Given the description of an element on the screen output the (x, y) to click on. 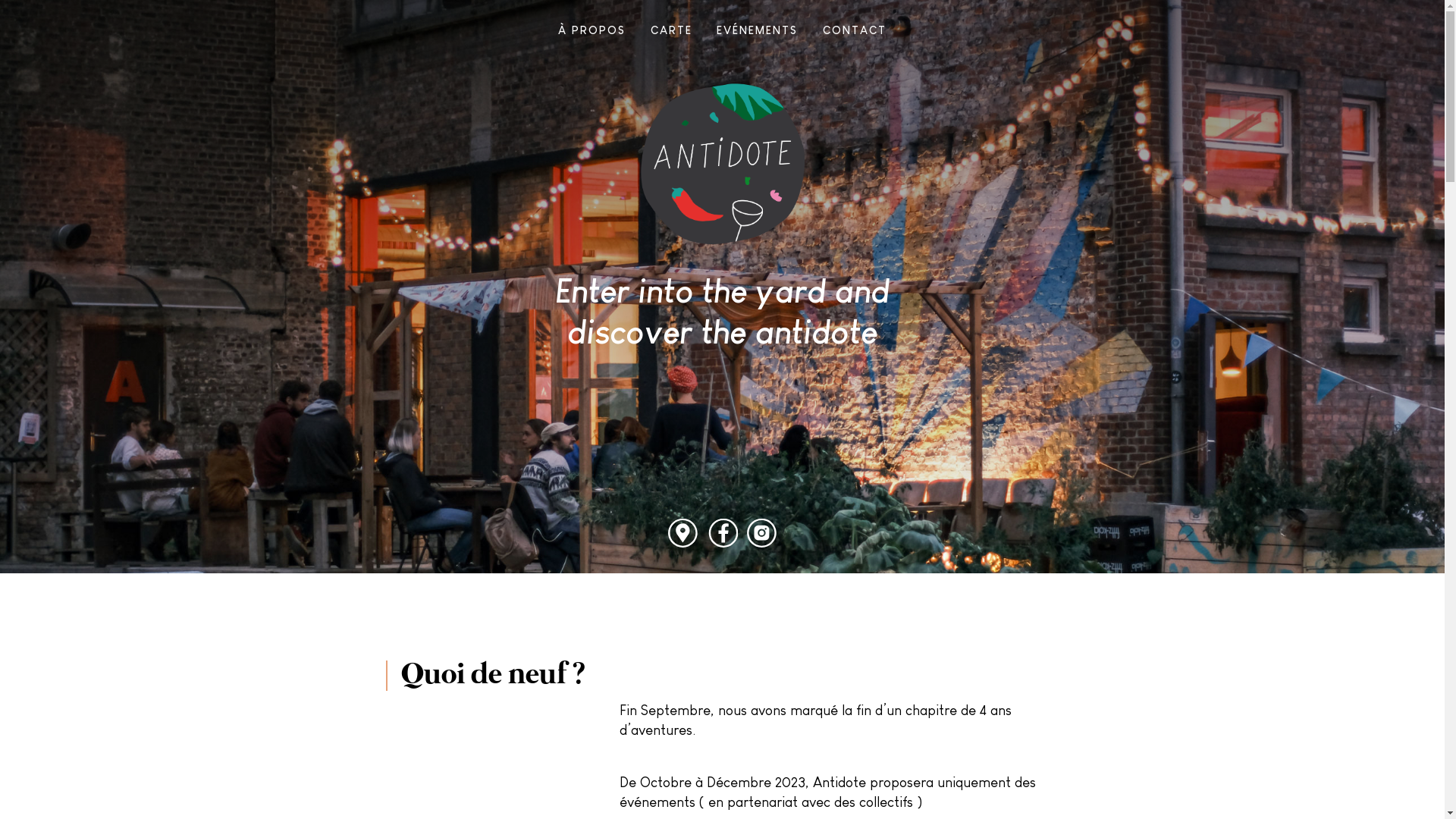
CONTACT Element type: text (854, 30)
Instagram Element type: text (761, 533)
CARTE Element type: text (671, 30)
Facebook Element type: text (721, 533)
